Given the description of an element on the screen output the (x, y) to click on. 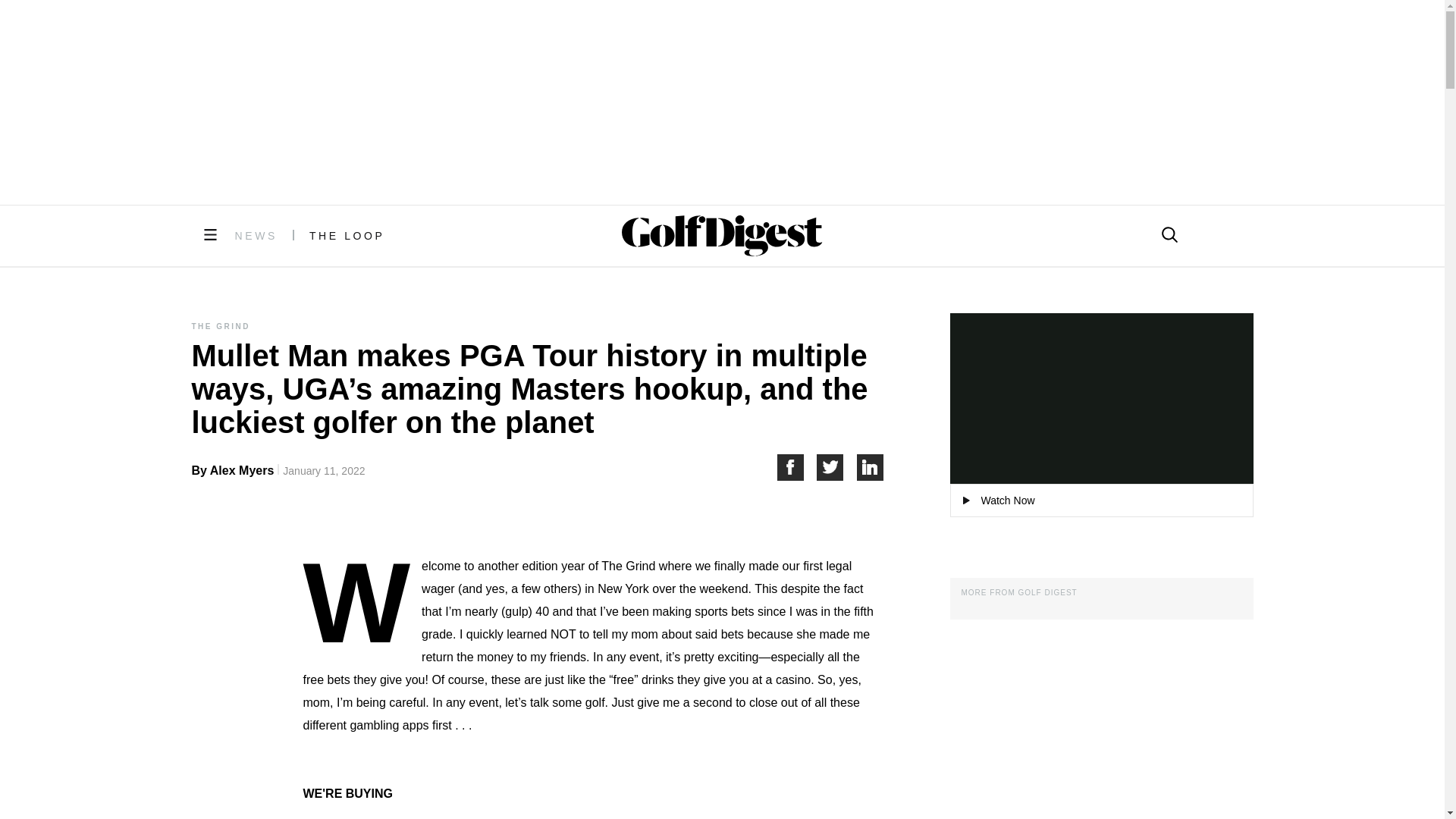
THE LOOP (346, 235)
NEWS (256, 235)
Share on Facebook (796, 467)
Share on LinkedIn (870, 467)
Share on Twitter (836, 467)
